Given the description of an element on the screen output the (x, y) to click on. 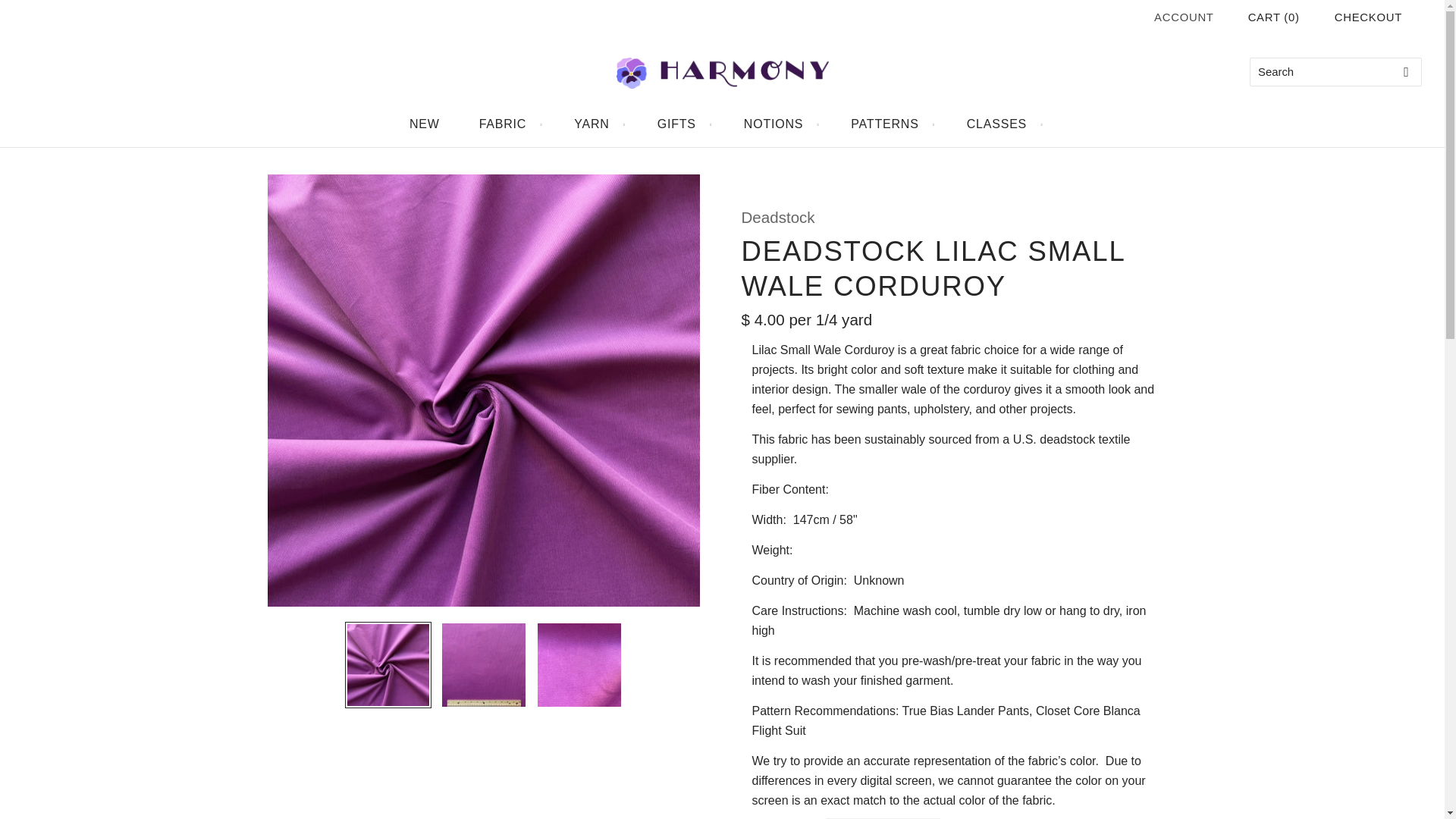
ACCOUNT (1184, 17)
NEW (425, 124)
CHECKOUT (1368, 17)
